Given the description of an element on the screen output the (x, y) to click on. 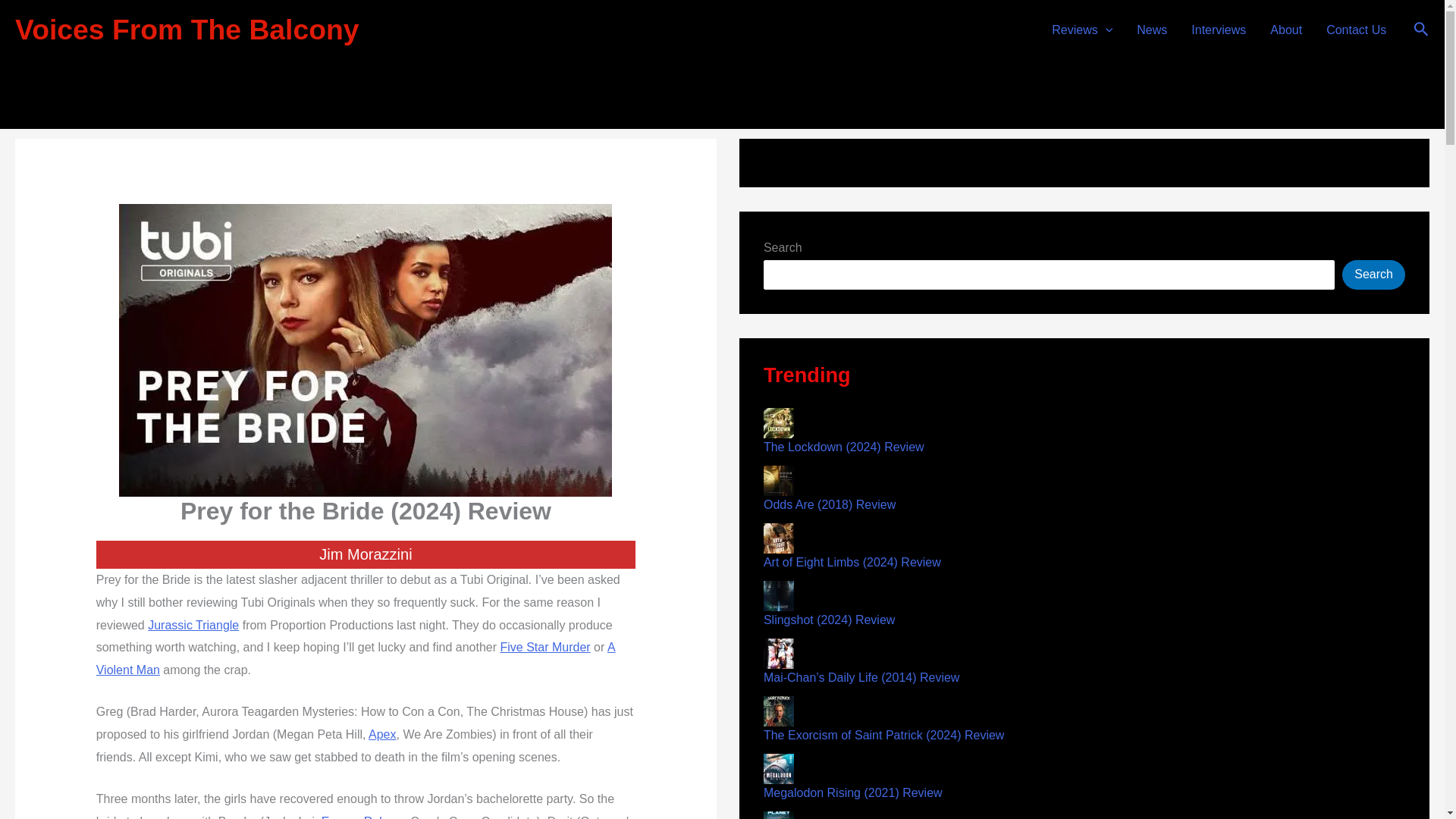
Reviews (1081, 30)
Interviews (1218, 30)
Jurassic Triangle (193, 625)
News (1151, 30)
Apex (382, 734)
A Violent Man (355, 658)
Voices From The Balcony (186, 29)
Contact Us (1355, 30)
View all posts by Jim Morazzini (731, 44)
Eraser: Reborn (362, 816)
